Given the description of an element on the screen output the (x, y) to click on. 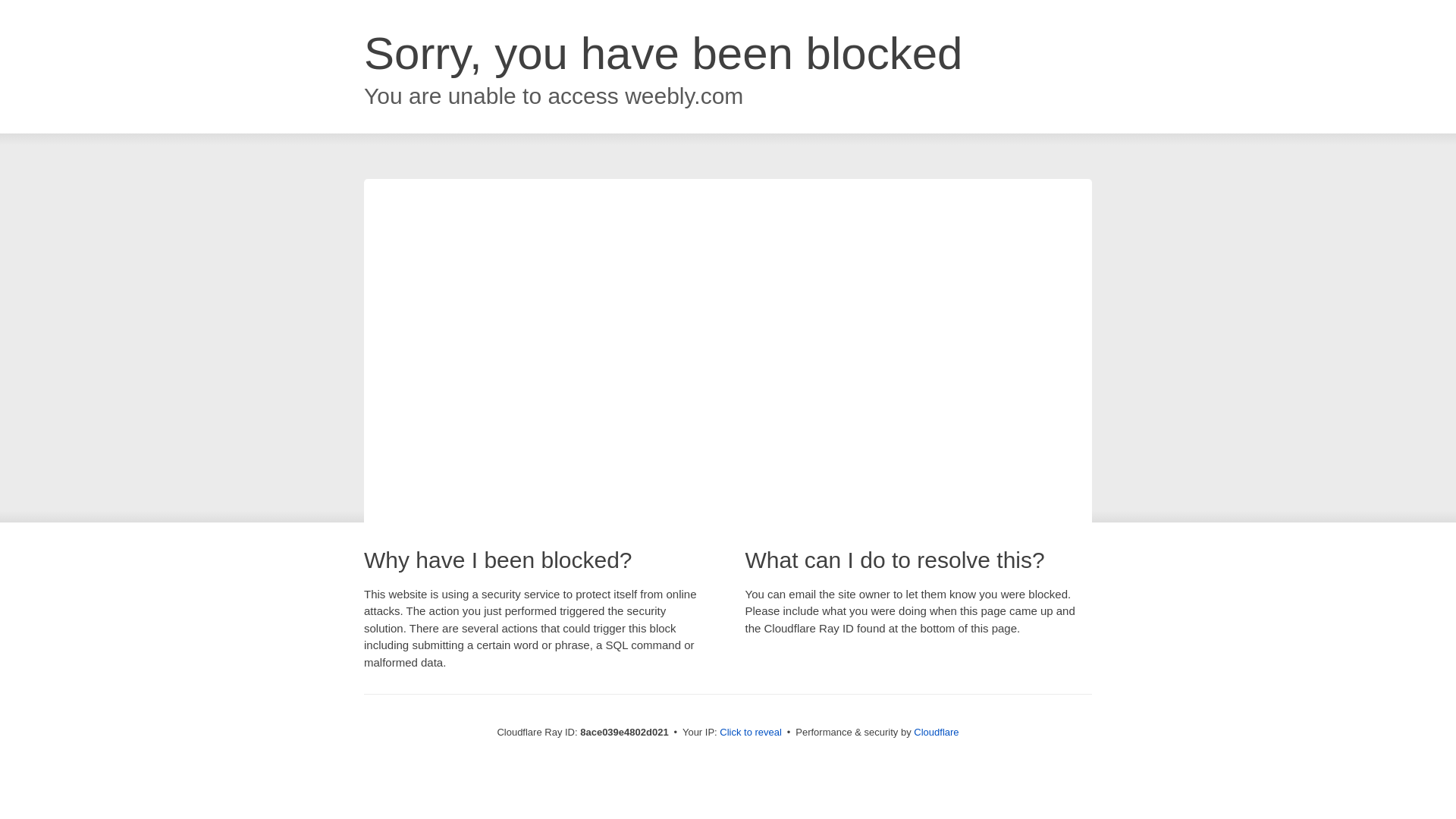
Click to reveal (750, 732)
Cloudflare (936, 731)
